Given the description of an element on the screen output the (x, y) to click on. 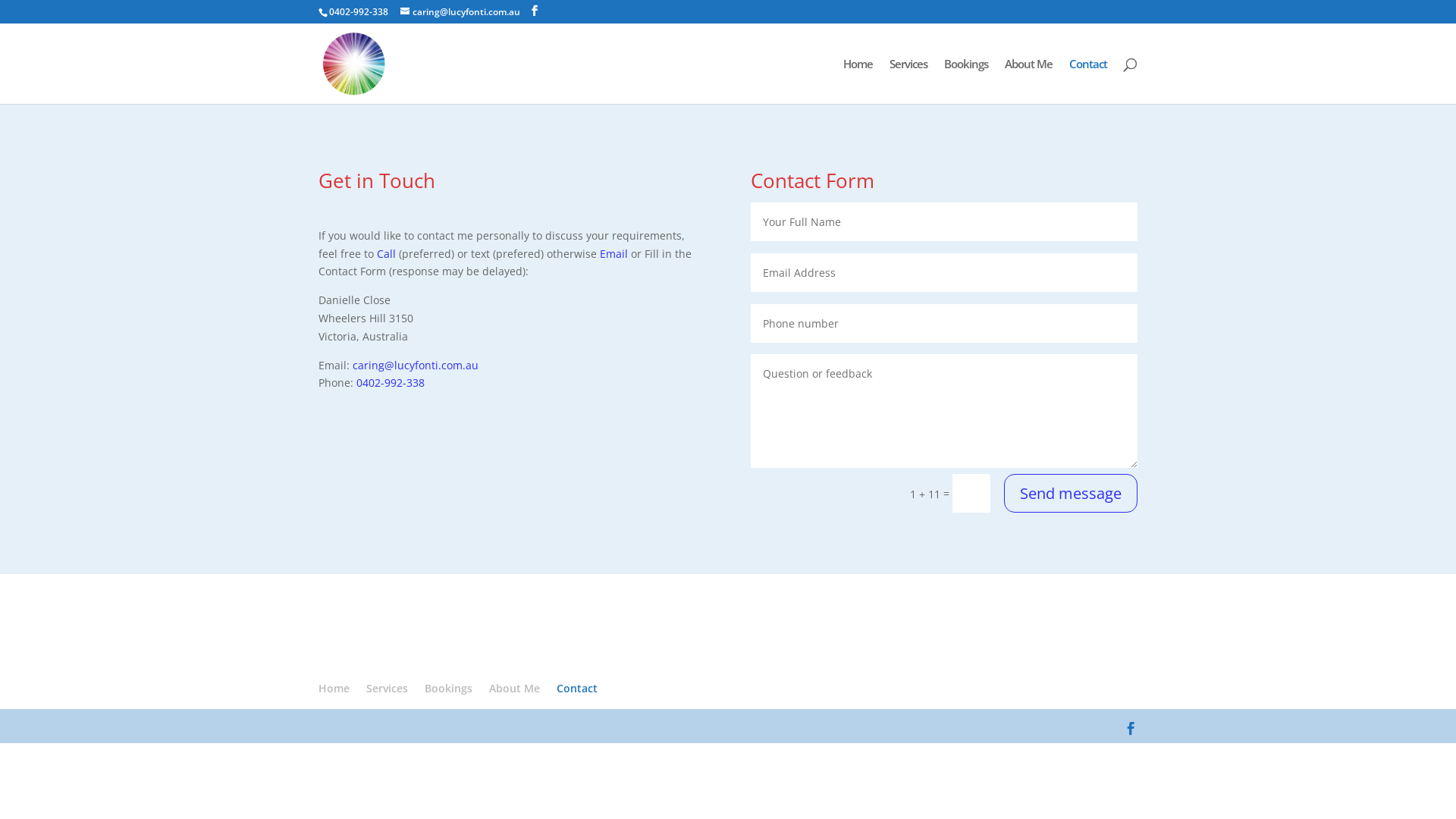
0402-992-338 Element type: text (390, 382)
Home Element type: text (333, 687)
Contact Element type: text (576, 687)
About Me Element type: text (1028, 80)
caring@lucyfonti.com.au Element type: text (460, 11)
Services Element type: text (386, 687)
Services Element type: text (908, 80)
Call Element type: text (385, 253)
Contact Element type: text (1088, 80)
Bookings Element type: text (448, 687)
About Me Element type: text (514, 687)
caring@lucyfonti.com.au Element type: text (415, 364)
Home Element type: text (857, 80)
Email Element type: text (613, 253)
Bookings Element type: text (966, 80)
Send message Element type: text (1070, 492)
